Given the description of an element on the screen output the (x, y) to click on. 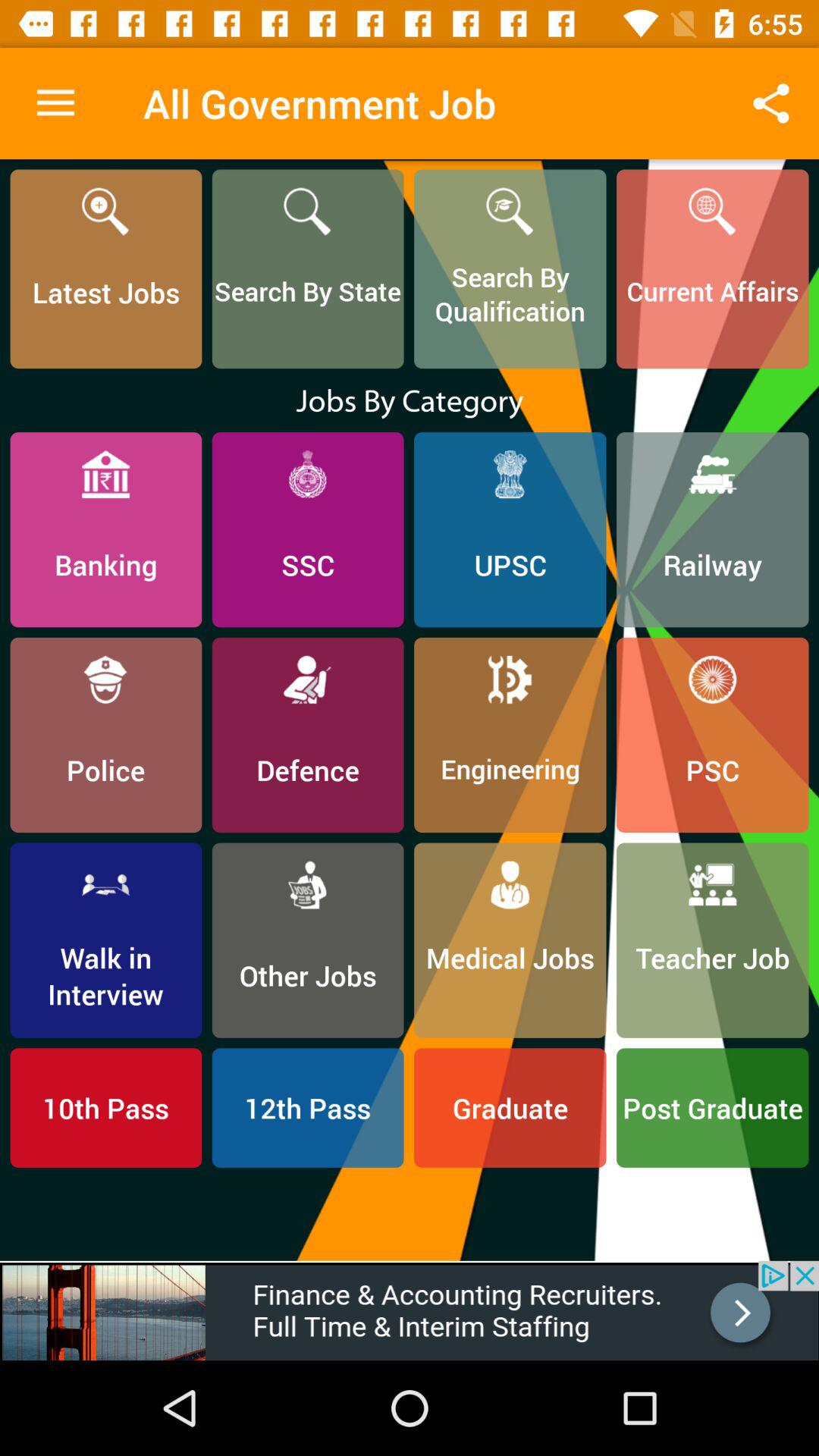
advertisement page (409, 1310)
